Given the description of an element on the screen output the (x, y) to click on. 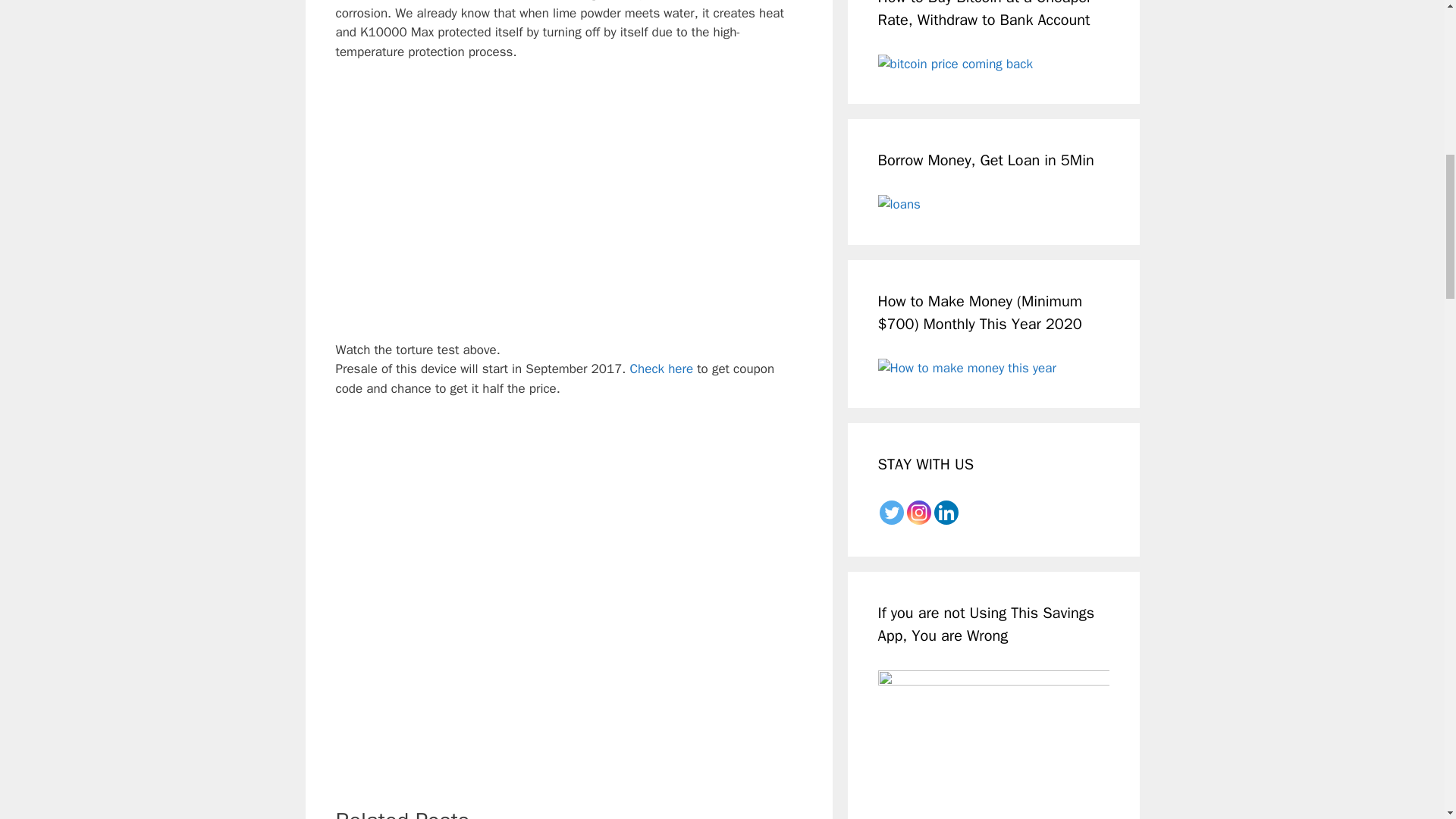
Linkedin (946, 512)
Twitter (891, 512)
Instagram (919, 512)
Check here (662, 368)
